Given the description of an element on the screen output the (x, y) to click on. 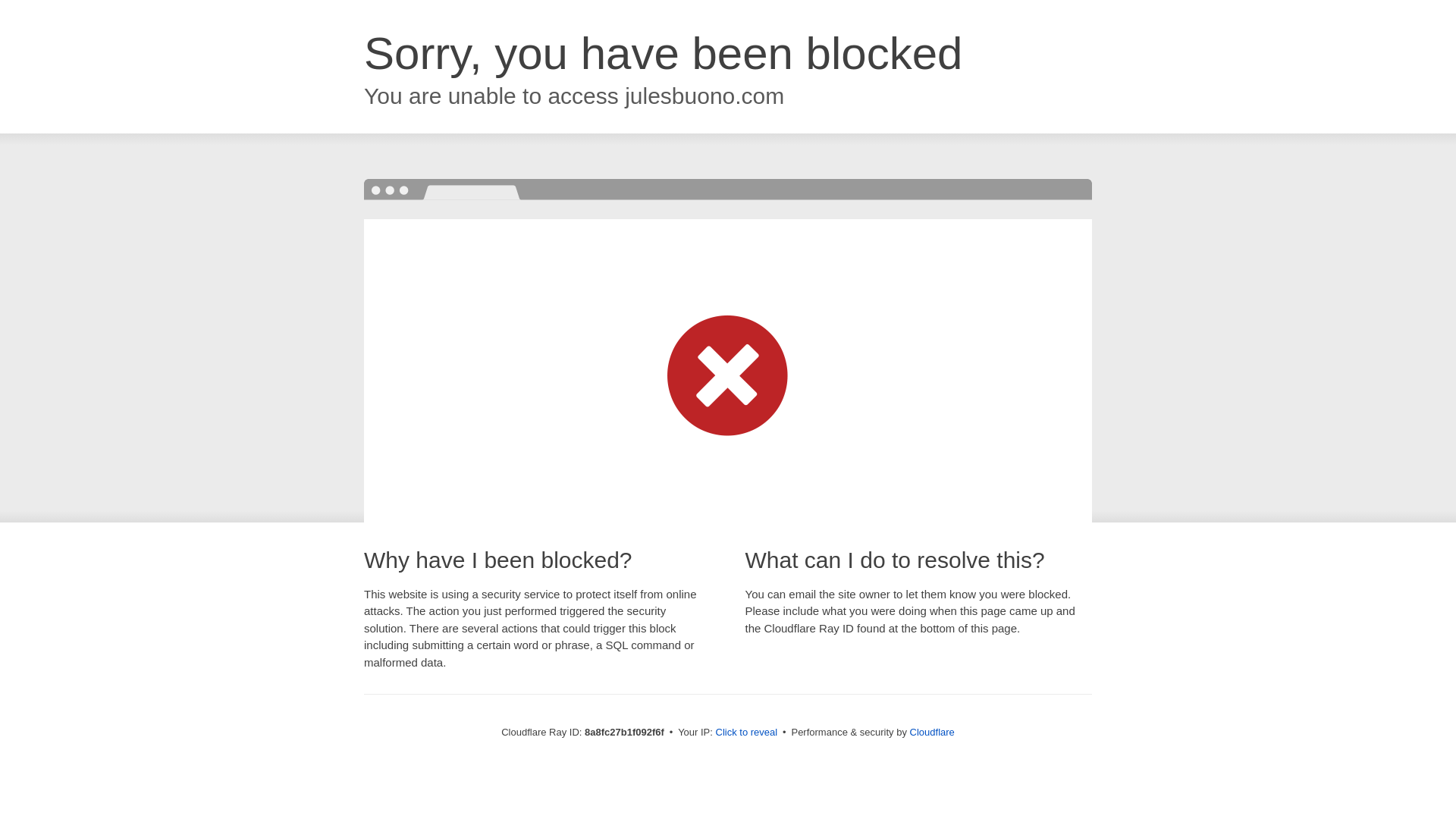
Cloudflare (932, 731)
Click to reveal (746, 732)
